Given the description of an element on the screen output the (x, y) to click on. 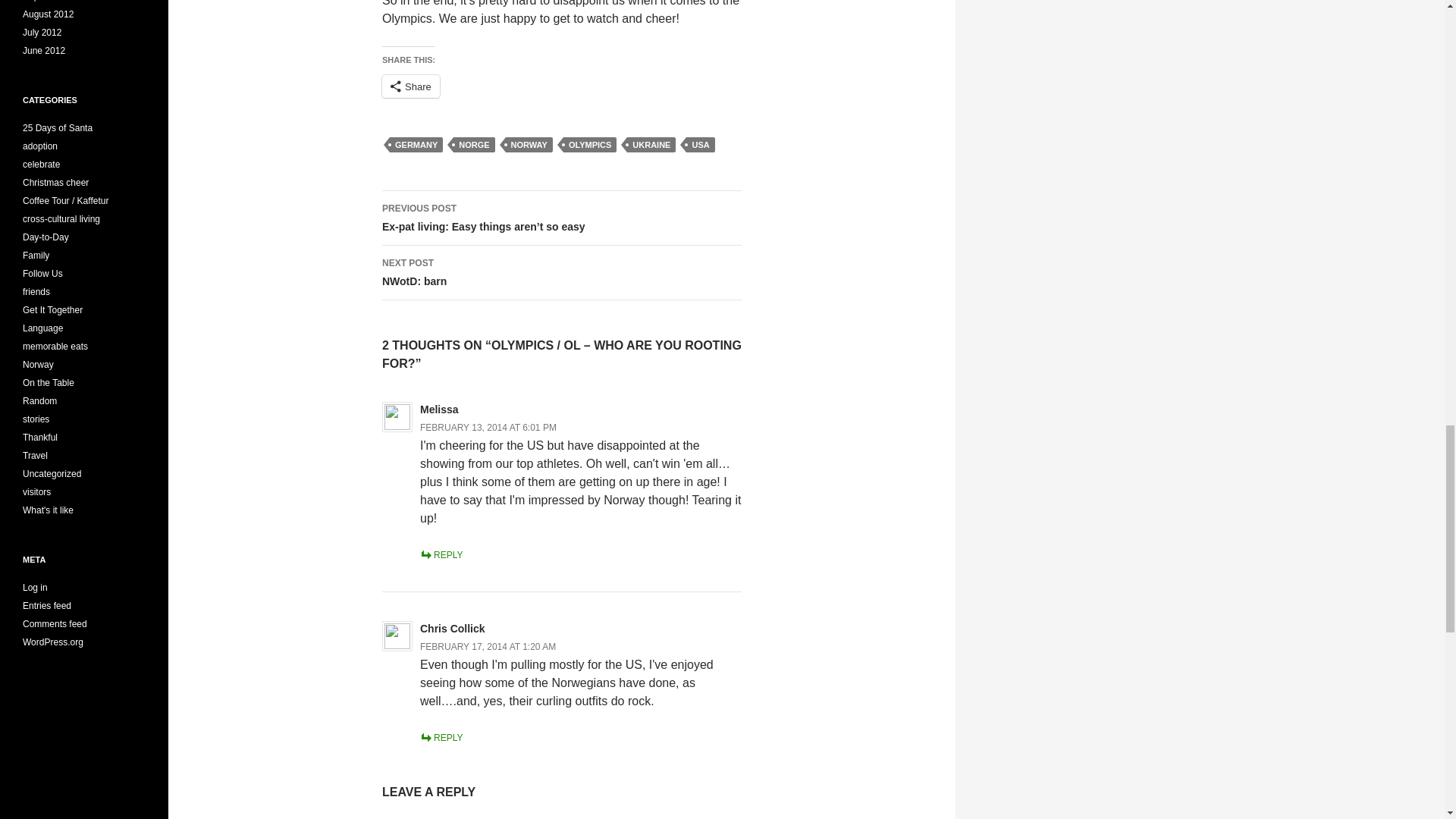
Melissa (439, 409)
Share (410, 86)
GERMANY (416, 144)
REPLY (441, 554)
Chris Collick (452, 628)
FEBRUARY 17, 2014 AT 1:20 AM (561, 272)
FEBRUARY 13, 2014 AT 6:01 PM (488, 646)
USA (488, 427)
OLYMPICS (699, 144)
